Given the description of an element on the screen output the (x, y) to click on. 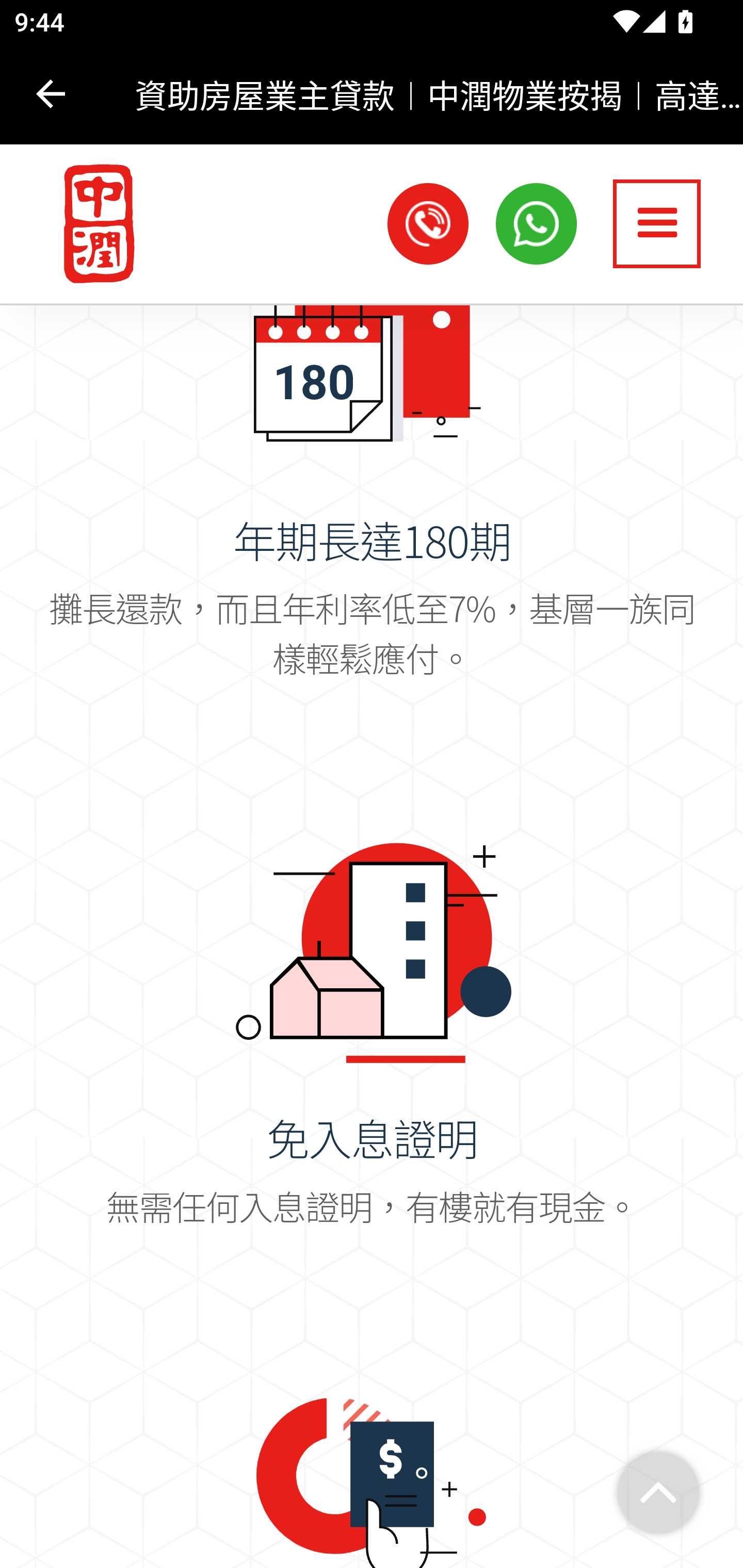
Navigate up (50, 93)
home 中潤物業按揭有限公司 (90, 225)
menu (657, 225)
電話 (427, 224)
whatsapp (536, 224)
TOP (658, 1493)
